Given the description of an element on the screen output the (x, y) to click on. 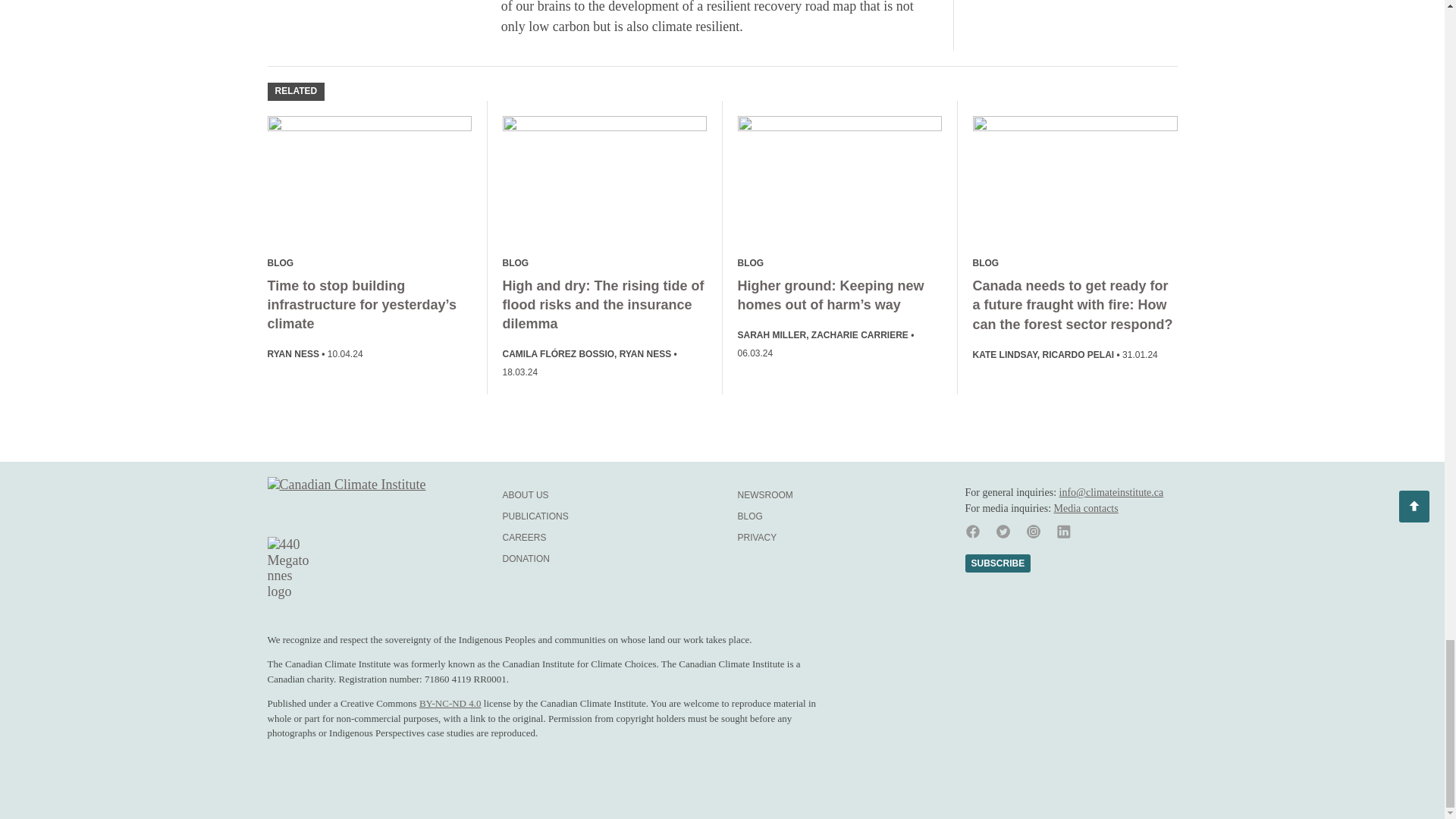
Twitter (1002, 531)
Canadian Climate Institute (368, 502)
Facebook (971, 531)
Instagram (1032, 531)
LinkedIn (1063, 531)
